Given the description of an element on the screen output the (x, y) to click on. 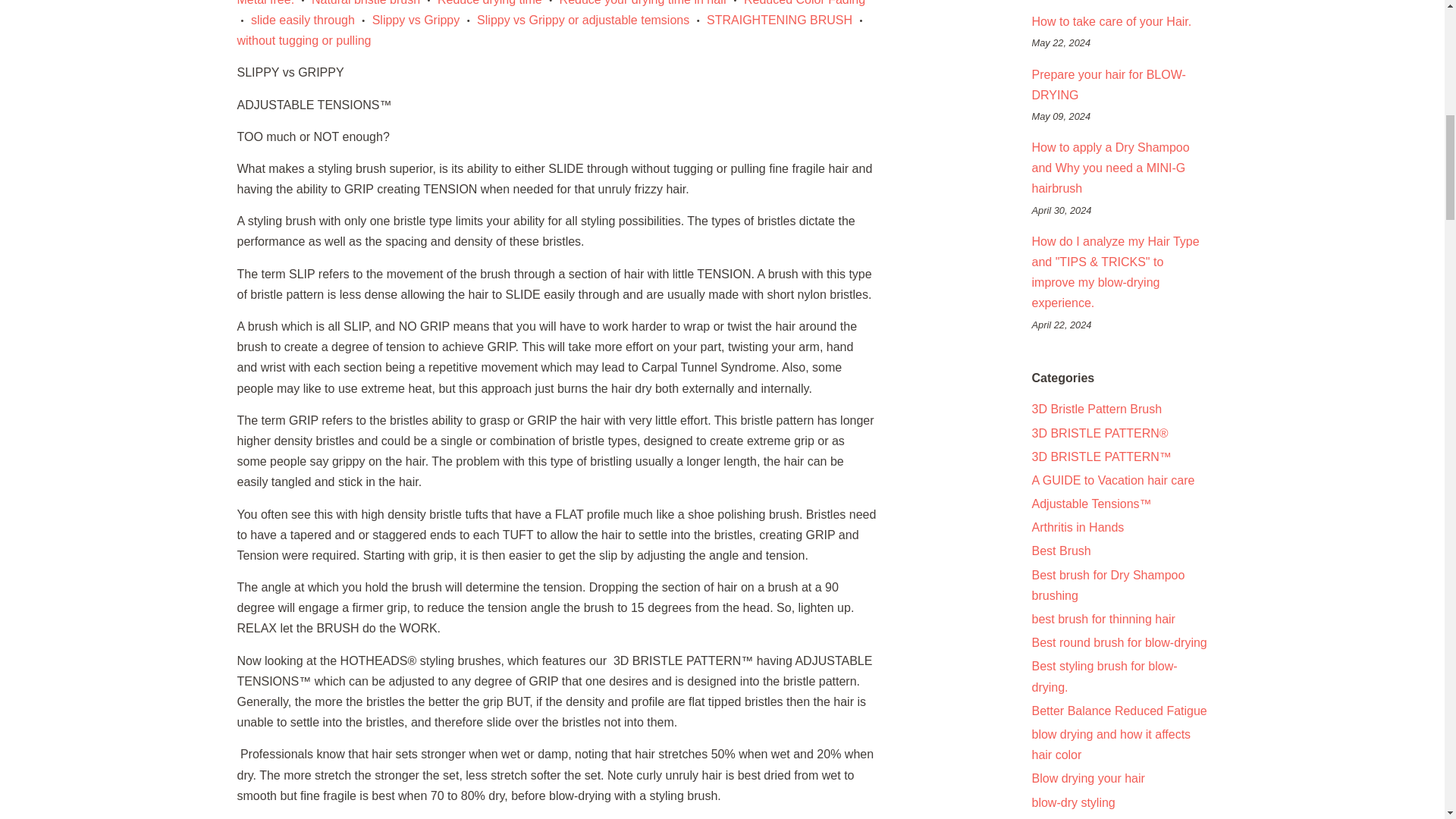
Show articles tagged Best brush for Dry Shampoo brushing (1107, 584)
Show articles tagged Blow drying your hair (1087, 778)
Show articles tagged Arthritis in Hands (1077, 526)
Show articles tagged 3D Bristle Pattern Brush (1095, 408)
Show articles tagged best brush for thinning hair (1102, 618)
Show articles tagged Best styling brush for blow-drying. (1103, 676)
Show articles tagged Best round brush for blow-drying (1118, 642)
Show articles tagged Better Balance Reduced Fatigue (1118, 710)
Show articles tagged blow-dry styling (1072, 802)
